Given the description of an element on the screen output the (x, y) to click on. 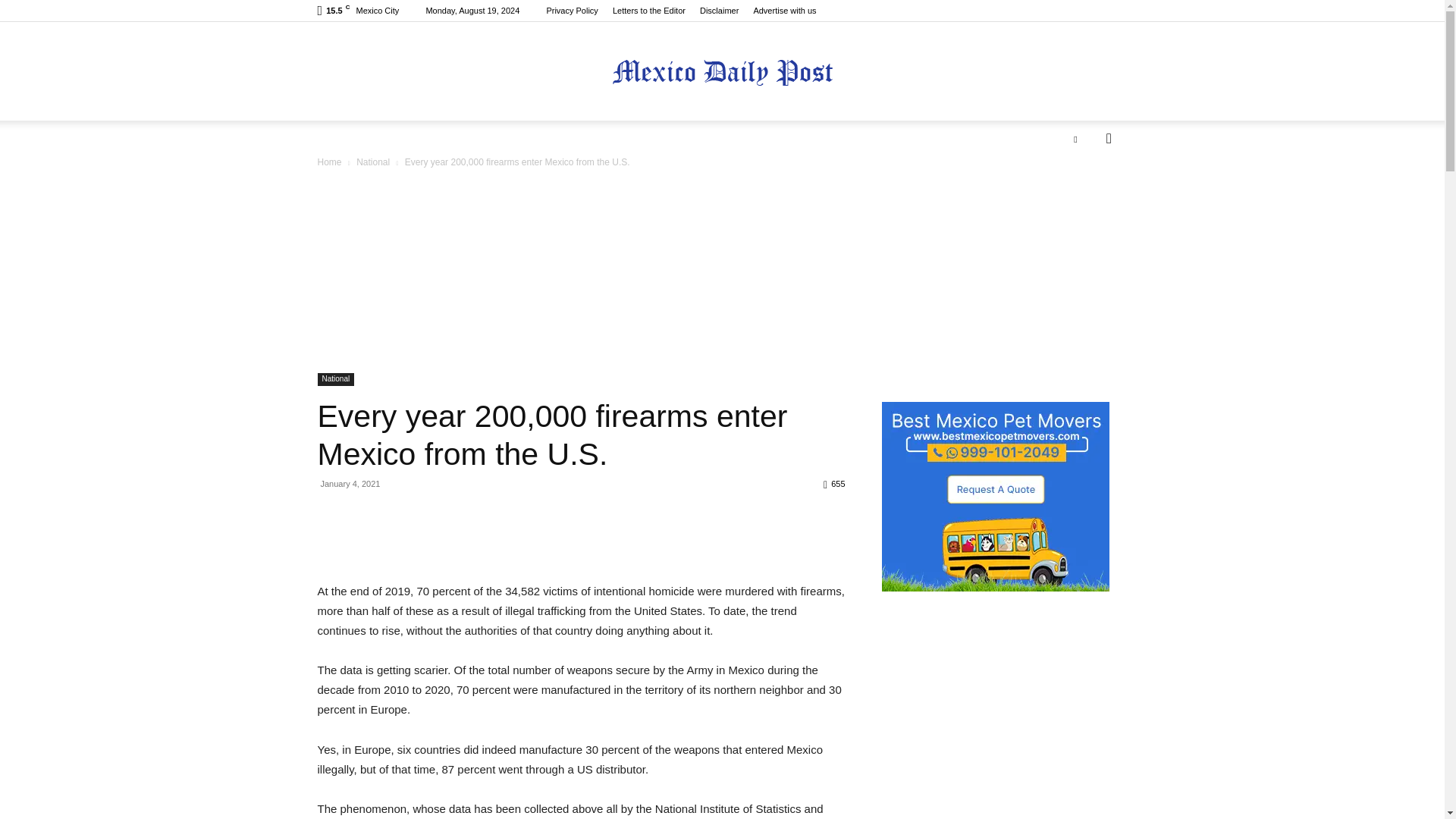
Disclaimer (719, 10)
Home (328, 162)
Privacy Policy (571, 10)
National (373, 162)
Search (1085, 199)
Mexico Daily Post (721, 72)
View all posts in National (373, 162)
National (335, 379)
Advertise with us (783, 10)
Letters to the Editor (648, 10)
